Given the description of an element on the screen output the (x, y) to click on. 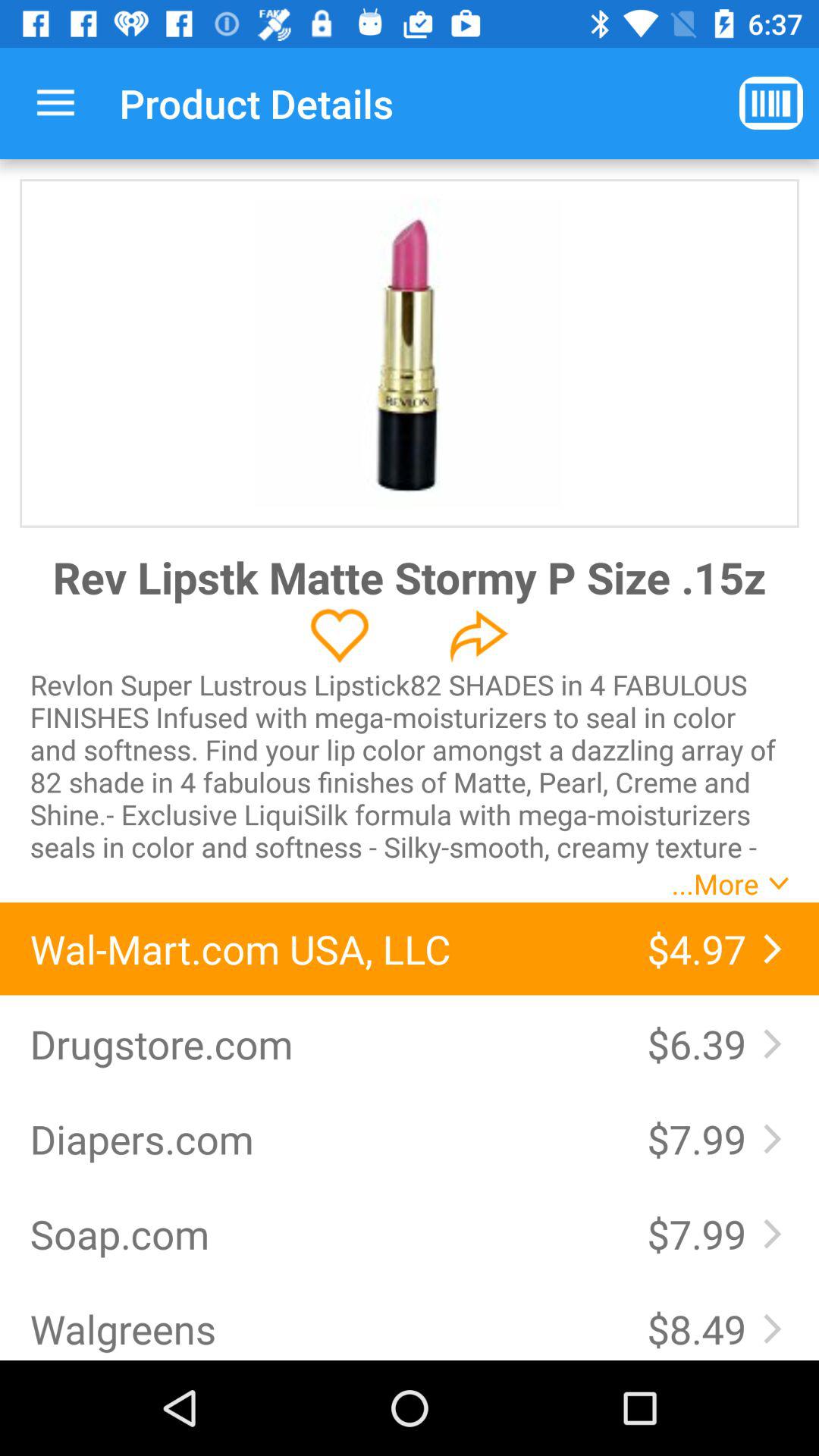
click the icon below the wal mart com item (701, 1043)
